Given the description of an element on the screen output the (x, y) to click on. 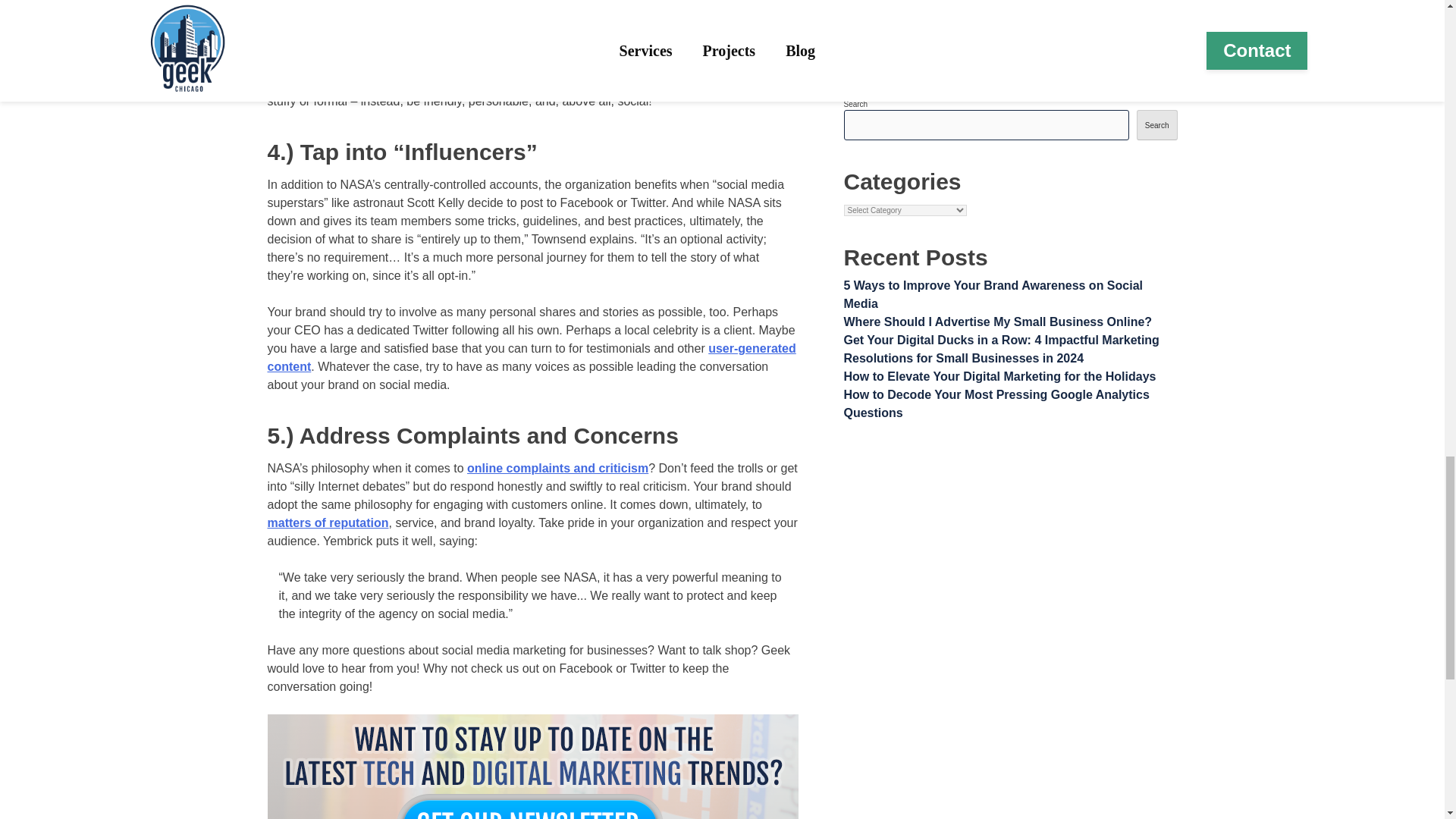
matters of reputation (327, 522)
make sure you have a distinct voice all your own (464, 82)
online complaints and criticism (557, 468)
user-generated content (530, 357)
